Given the description of an element on the screen output the (x, y) to click on. 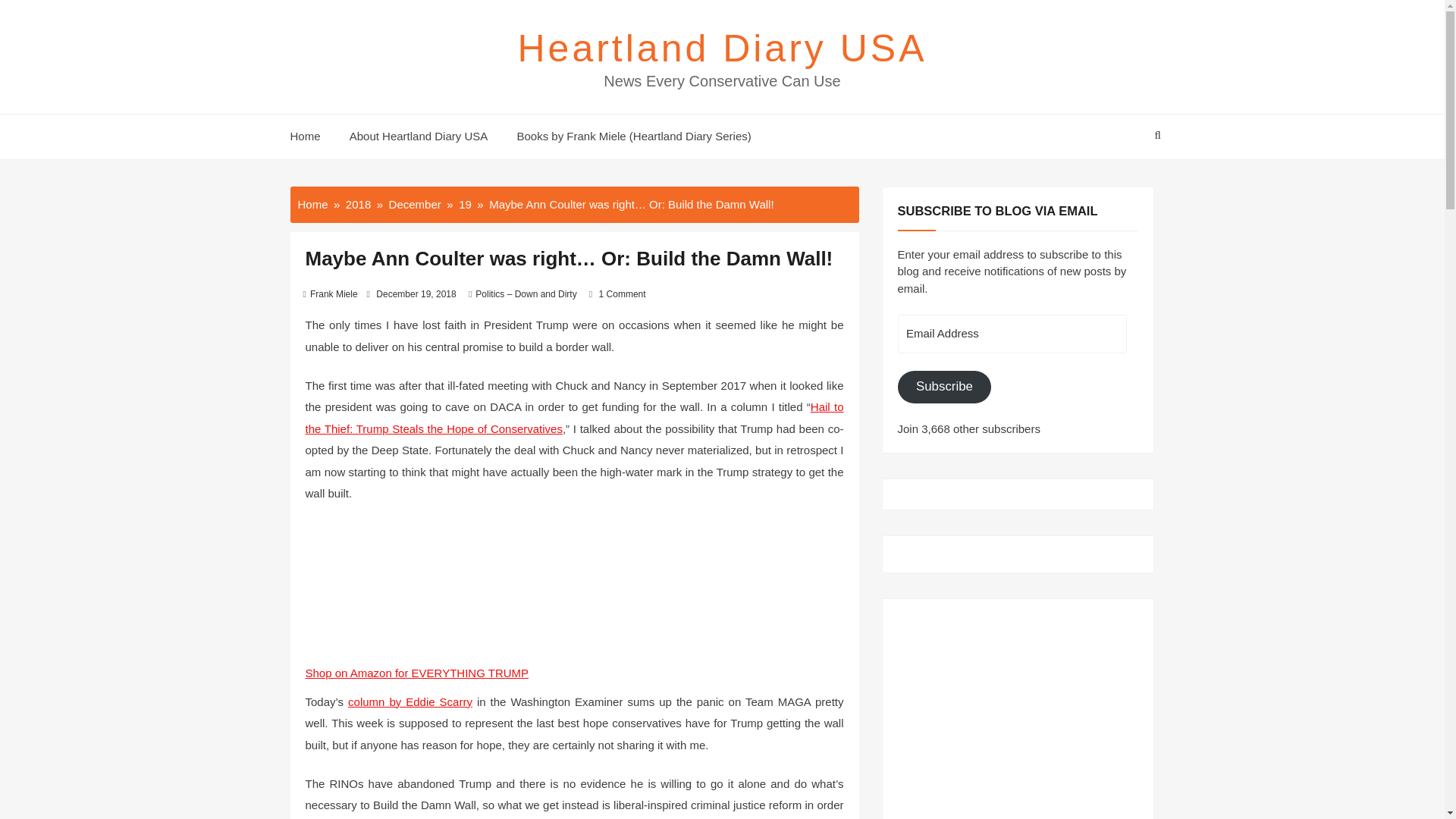
1 Comment (622, 294)
Home (312, 203)
December 19, 2018 (415, 294)
column by Eddie Scarry (409, 701)
Heartland Diary USA (721, 48)
2018 (358, 203)
Shop on Amazon for EVERYTHING TRUMP (416, 672)
December (414, 203)
Frank Miele (334, 294)
Home (311, 136)
